Given the description of an element on the screen output the (x, y) to click on. 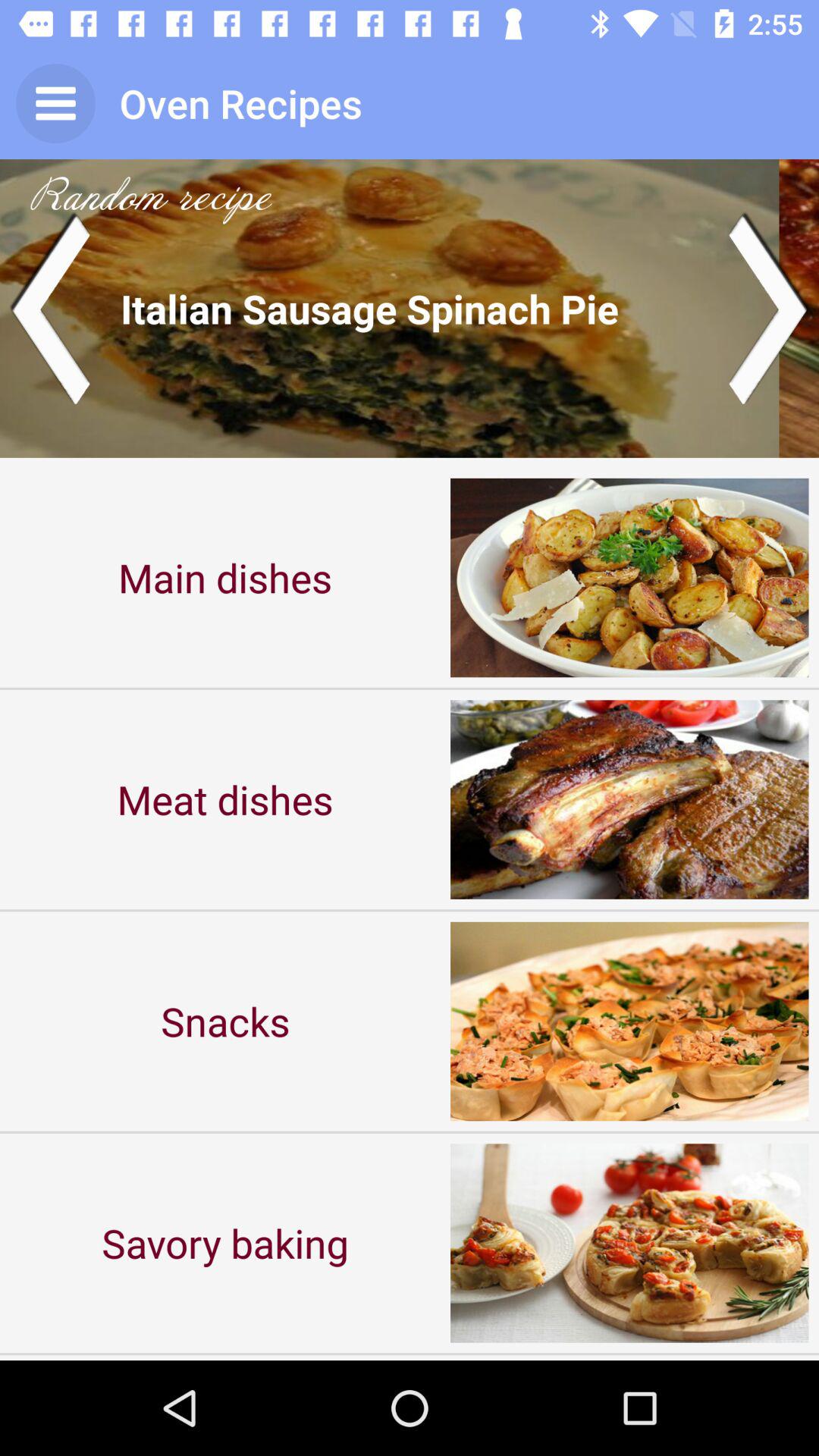
go to previous (49, 308)
